Given the description of an element on the screen output the (x, y) to click on. 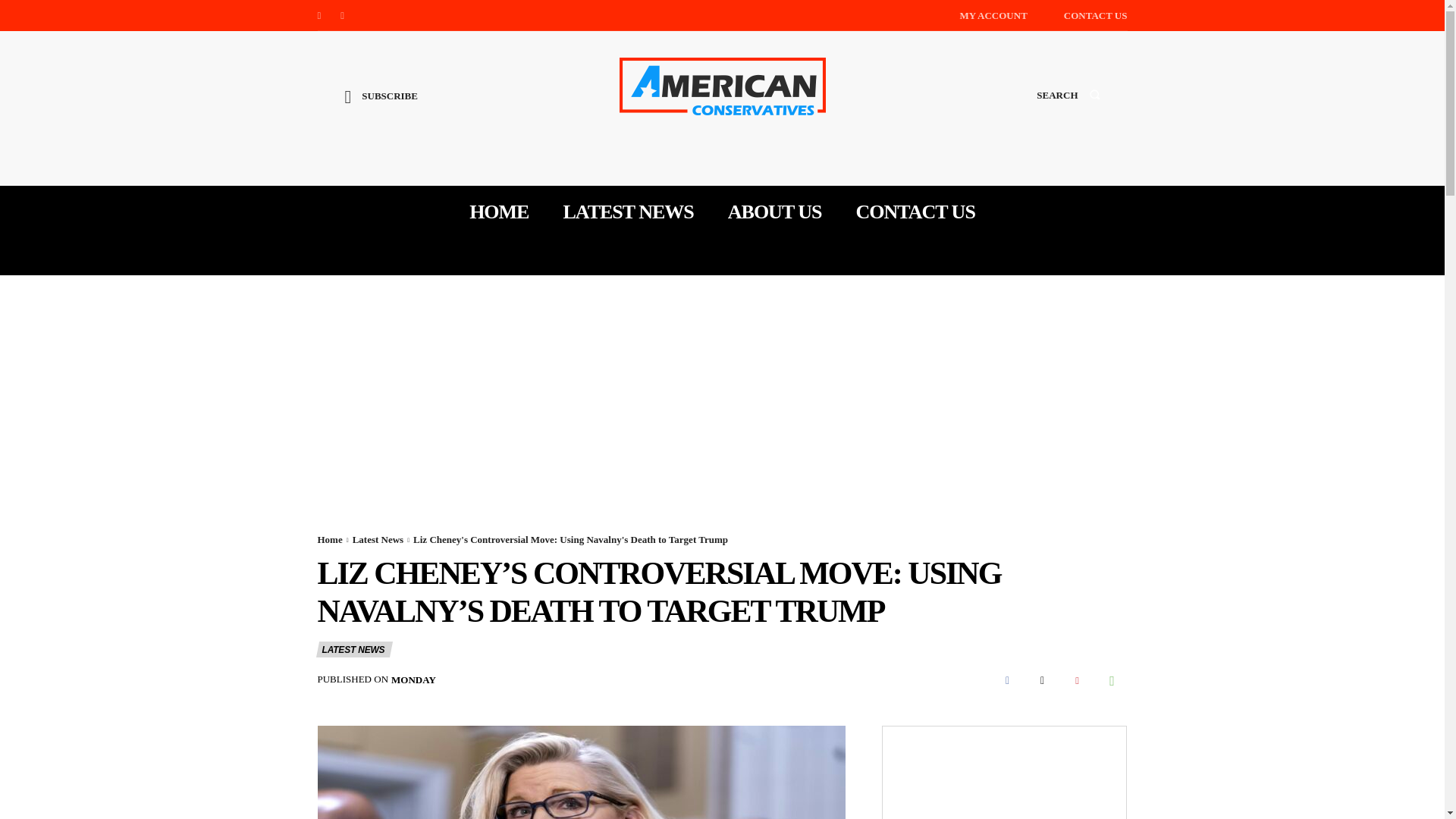
Home (329, 539)
CONTACT US (915, 212)
My Account (992, 15)
HOME (498, 212)
LATEST NEWS (353, 649)
Contact Us (1095, 15)
Search (1067, 109)
Facebook (318, 15)
ABOUT US (775, 212)
CONTACT US (1095, 15)
SEARCH (1067, 109)
Latest News (378, 539)
Twitter (342, 15)
SUBSCRIBE (380, 107)
